Given the description of an element on the screen output the (x, y) to click on. 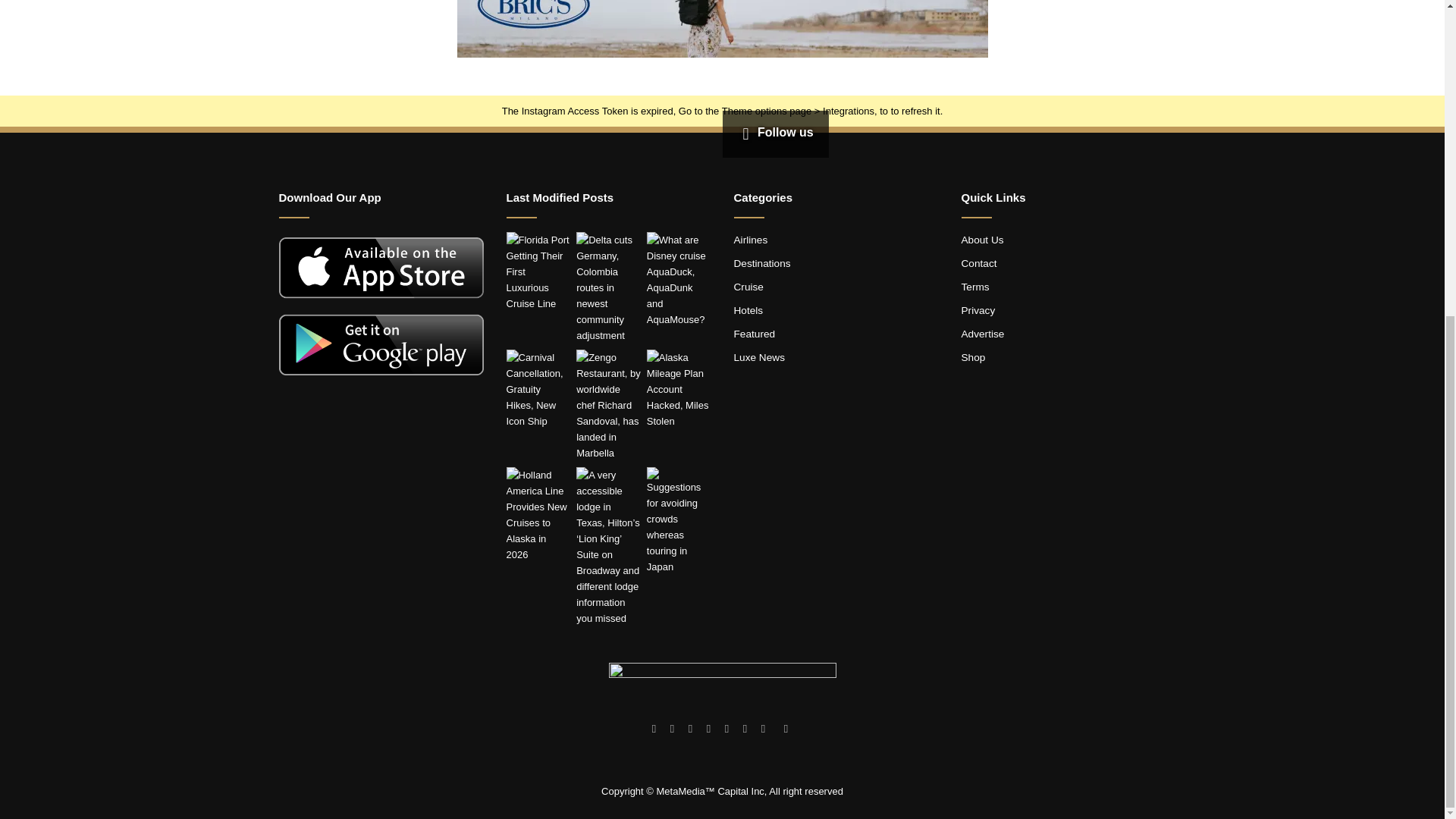
Featured (754, 333)
Hotels (747, 310)
Follow us (774, 132)
Cruise (747, 286)
Destinations (761, 263)
Follow us (774, 132)
Airlines (750, 239)
